Given the description of an element on the screen output the (x, y) to click on. 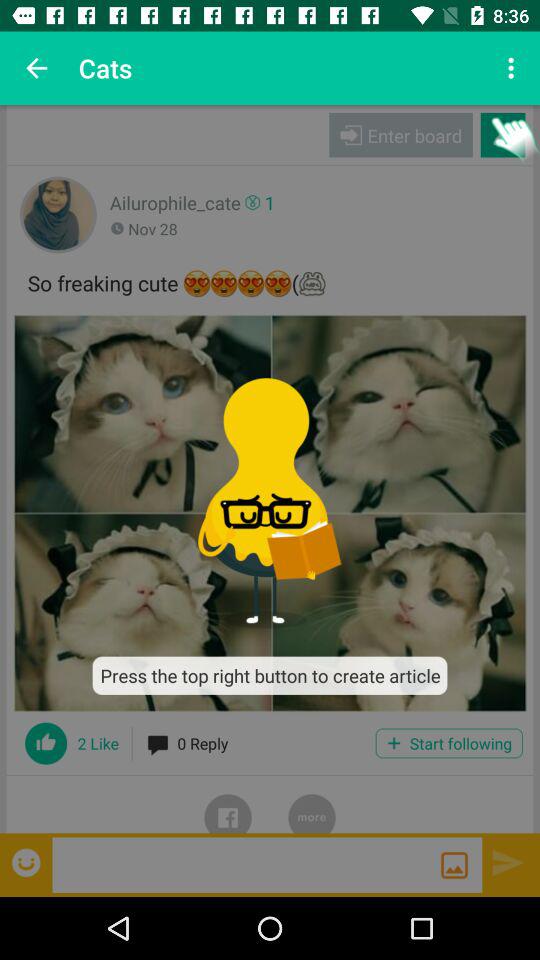
search (454, 865)
